Given the description of an element on the screen output the (x, y) to click on. 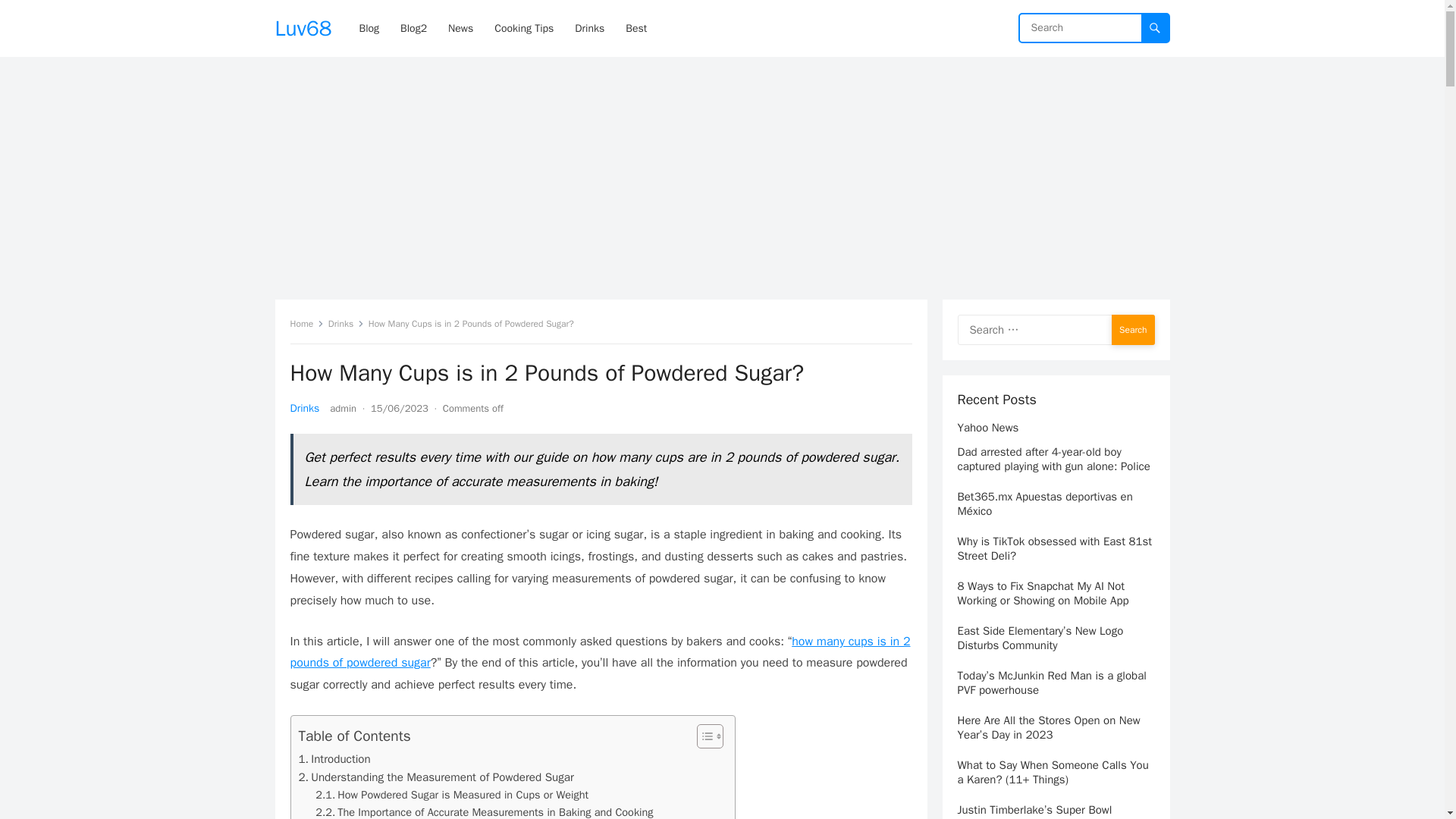
How Powdered Sugar is Measured in Cups or Weight (451, 794)
Drinks (303, 408)
Cooking Tips (523, 28)
How Powdered Sugar is Measured in Cups or Weight (451, 794)
Introduction (334, 759)
Search (1133, 329)
Luv68 (303, 28)
Introduction (334, 759)
